Given the description of an element on the screen output the (x, y) to click on. 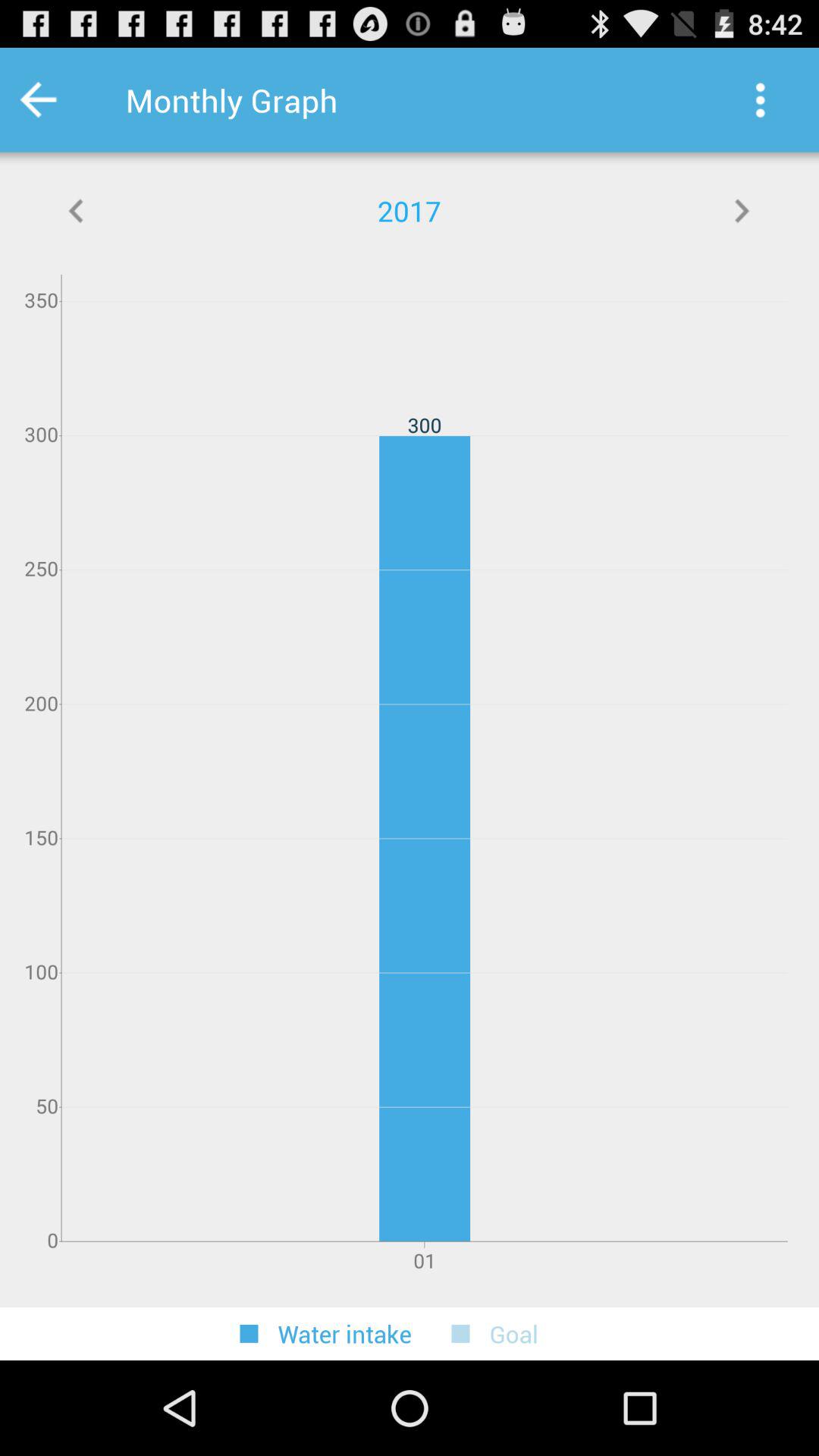
turn on the app next to the 2017 icon (742, 210)
